Given the description of an element on the screen output the (x, y) to click on. 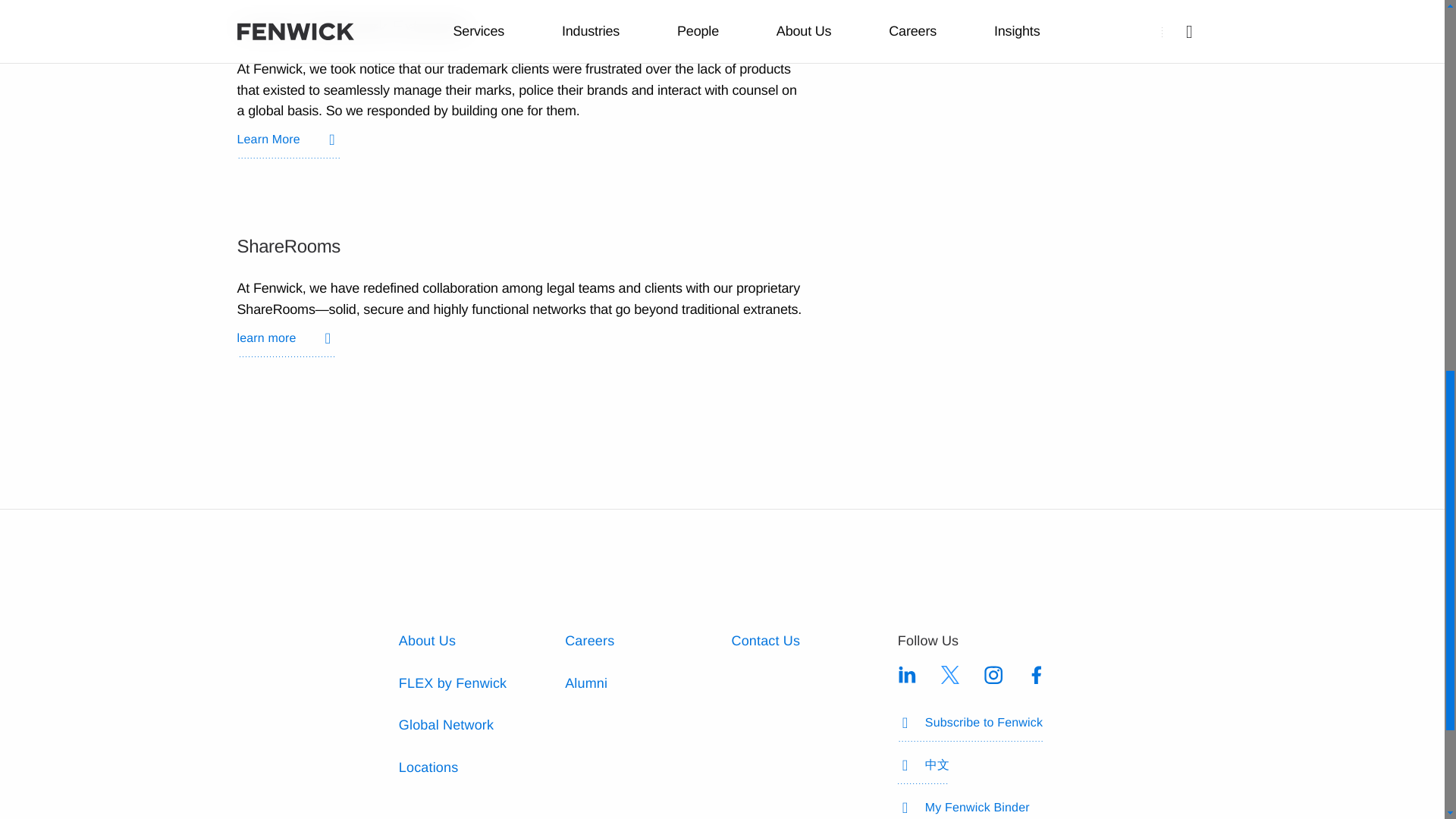
FLEX by Fenwick (452, 683)
Contact Us (764, 640)
Alumni (585, 683)
Careers (589, 640)
Global Network (445, 724)
Locations (428, 767)
About Us (426, 640)
